Given the description of an element on the screen output the (x, y) to click on. 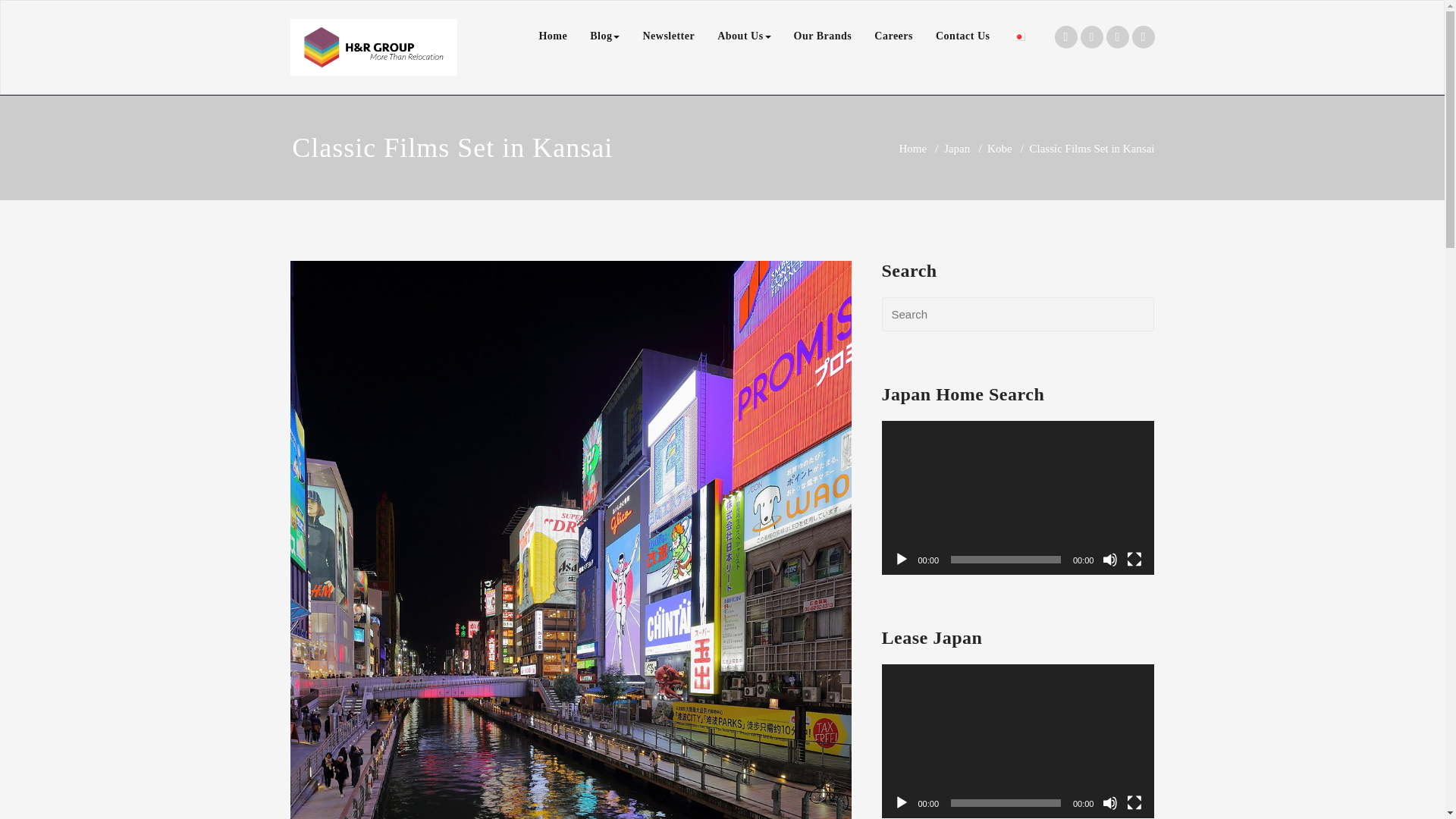
Japan (956, 148)
Our Brands (823, 36)
Home (912, 148)
About Us (743, 36)
Mute (1110, 559)
Mute (1110, 802)
Play (900, 559)
Home (552, 36)
Newsletter (668, 36)
Blog (604, 36)
Careers (893, 36)
Kobe (999, 148)
Fullscreen (1133, 802)
Fullscreen (1133, 559)
